Given the description of an element on the screen output the (x, y) to click on. 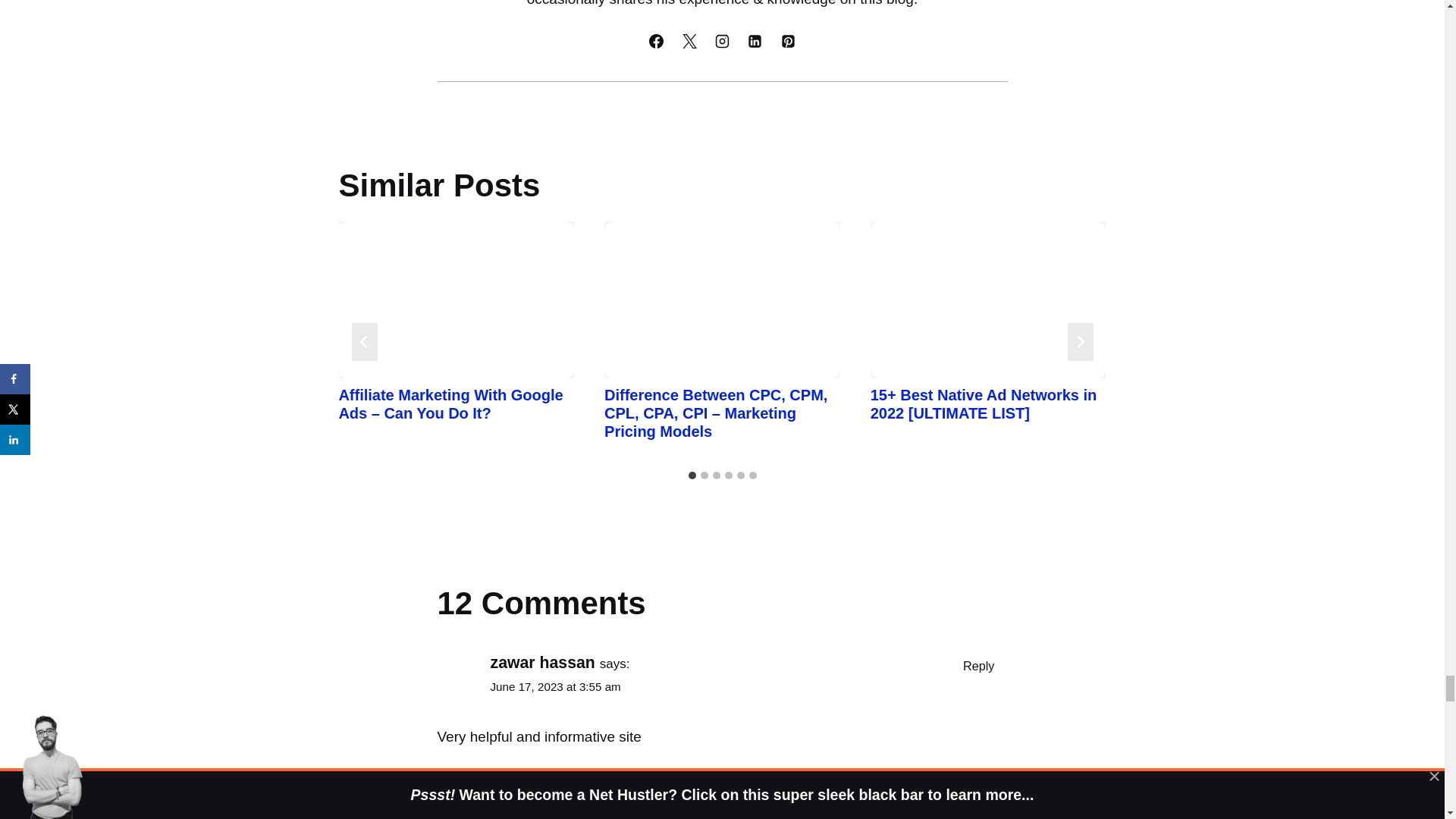
Follow Stephen Montagne on Instagram (721, 40)
Follow Stephen Montagne on Pinterest (787, 40)
Follow Stephen Montagne on Facebook (656, 40)
Follow Stephen Montagne on Linkedin (755, 40)
Follow Stephen Montagne on X formerly Twitter (689, 40)
